Given the description of an element on the screen output the (x, y) to click on. 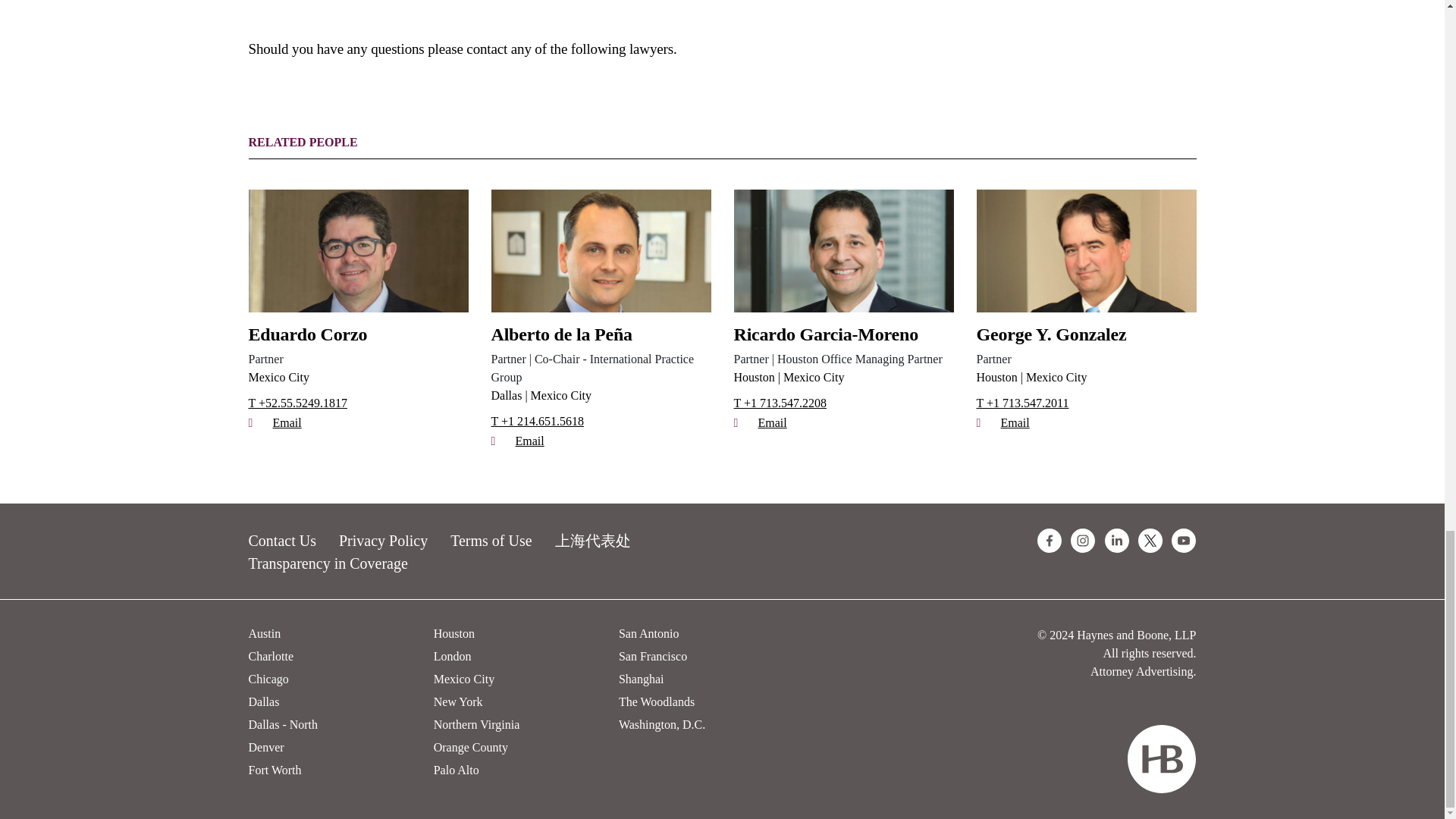
Dallas (507, 395)
Eduardo Corzo (358, 333)
people head shot (1086, 250)
Ricardo Garcia-Moreno (843, 333)
Mexico City (1053, 377)
Mexico City (557, 395)
Email (843, 423)
Mexico City (810, 377)
Mexico City (278, 377)
people head shot (358, 250)
